Given the description of an element on the screen output the (x, y) to click on. 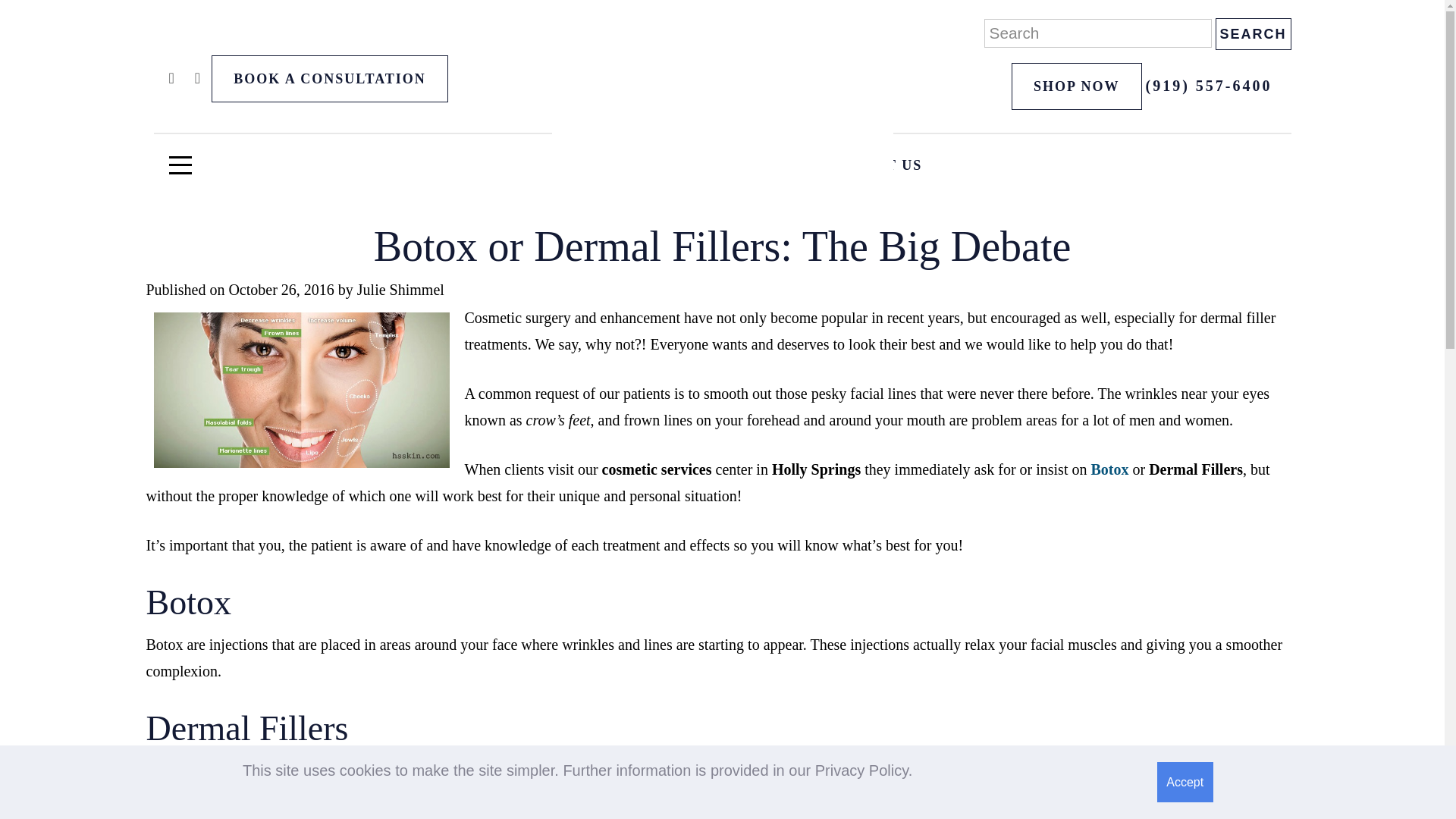
ABOUT US (724, 165)
Search (1252, 33)
Botox Injections Holly Springs (1109, 469)
SHOP NOW (1076, 86)
RESULTS (595, 165)
Search (1252, 33)
BOOK A CONSULTATION (329, 78)
CONTACT US (870, 165)
